Given the description of an element on the screen output the (x, y) to click on. 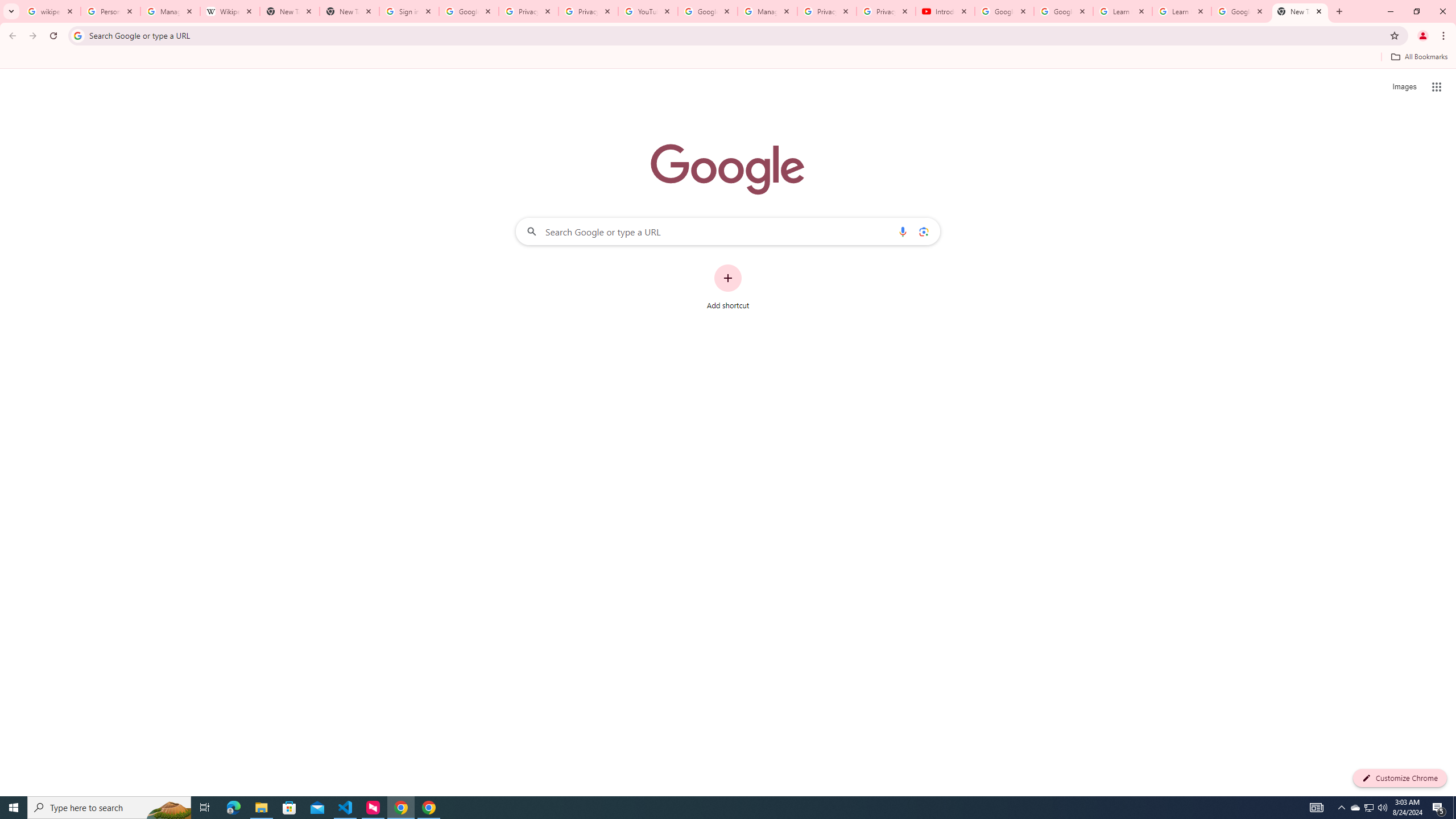
Personalization & Google Search results - Google Search Help (110, 11)
Add shortcut (727, 287)
Chrome (1445, 35)
New Tab (1338, 11)
Google Drive: Sign-in (468, 11)
Search by voice (902, 230)
You (1422, 35)
Google Account Help (707, 11)
Search by image (922, 230)
Restore (1416, 11)
